Given the description of an element on the screen output the (x, y) to click on. 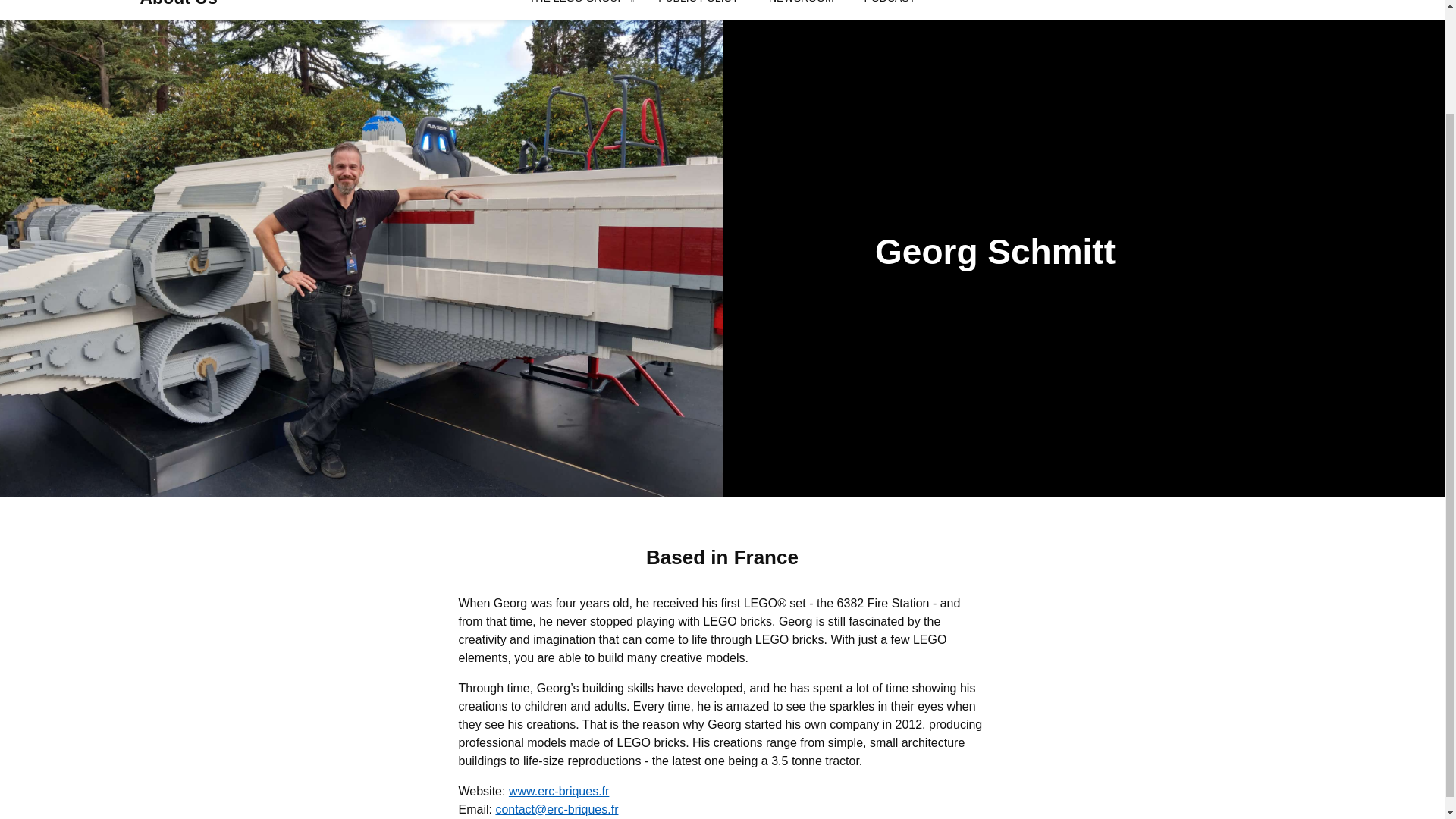
NEWSROOM (801, 7)
www.erc-briques.fr (558, 790)
THE LEGO GROUP (576, 7)
About Us (177, 5)
PODCAST (889, 7)
PUBLIC POLICY (698, 7)
